Given the description of an element on the screen output the (x, y) to click on. 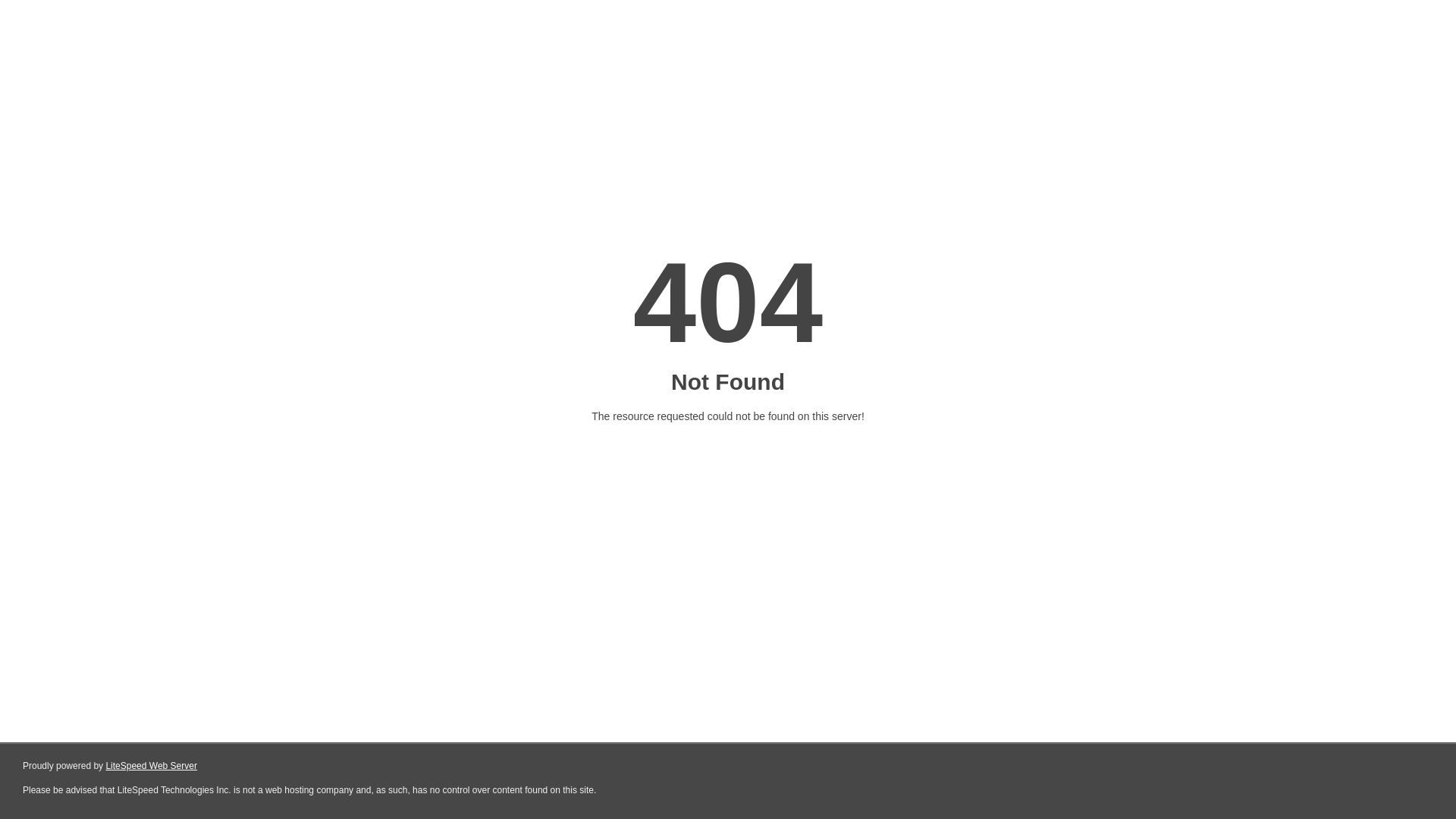
LiteSpeed Web Server Element type: text (151, 765)
